Given the description of an element on the screen output the (x, y) to click on. 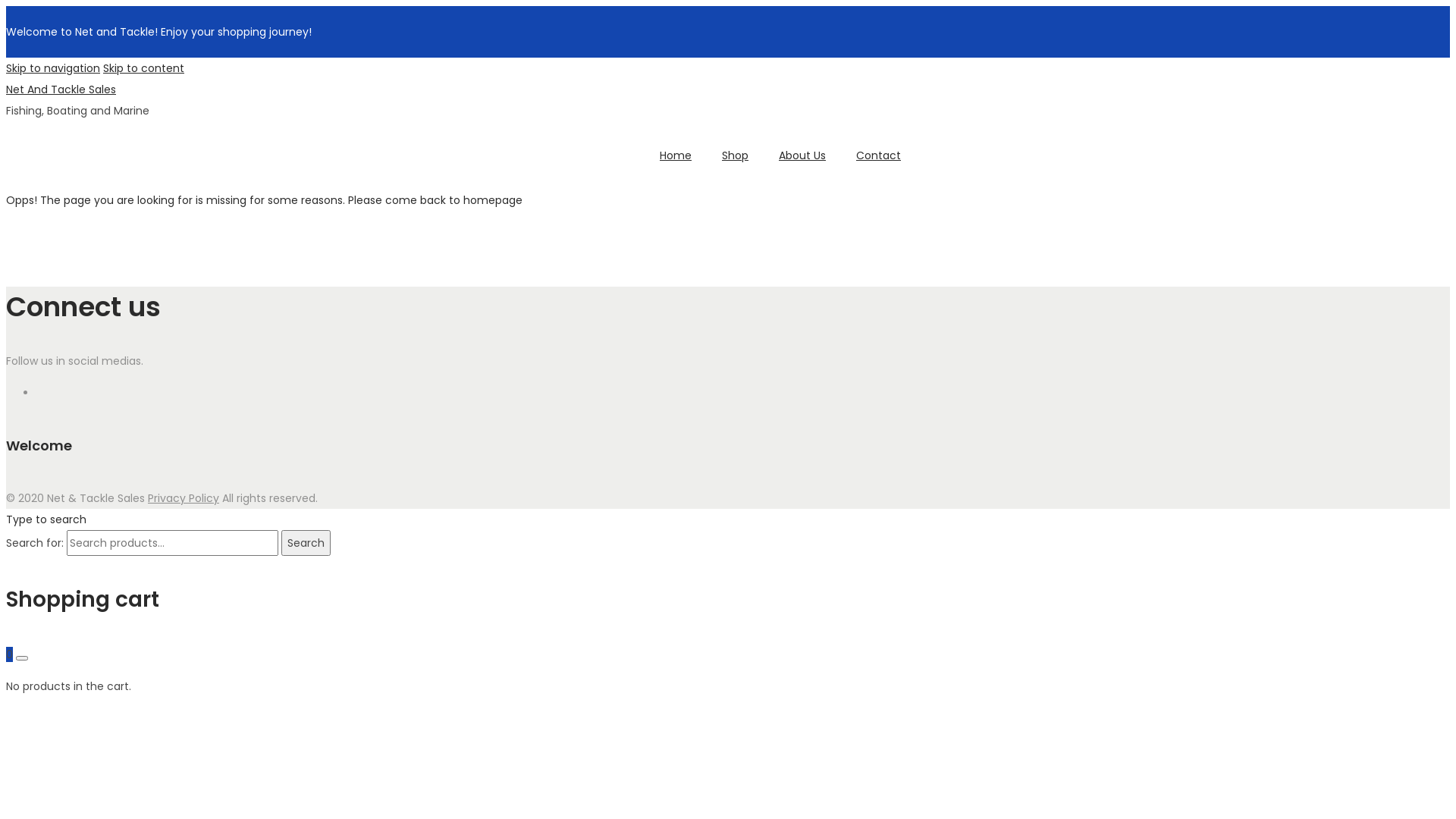
Contact Element type: text (878, 155)
About Us Element type: text (801, 155)
Skip to navigation Element type: text (53, 67)
Net And Tackle Sales Element type: text (61, 89)
Skip to content Element type: text (143, 67)
Shop Element type: text (734, 155)
Privacy Policy Element type: text (183, 497)
Home Element type: text (675, 155)
Search Element type: text (305, 542)
